Given the description of an element on the screen output the (x, y) to click on. 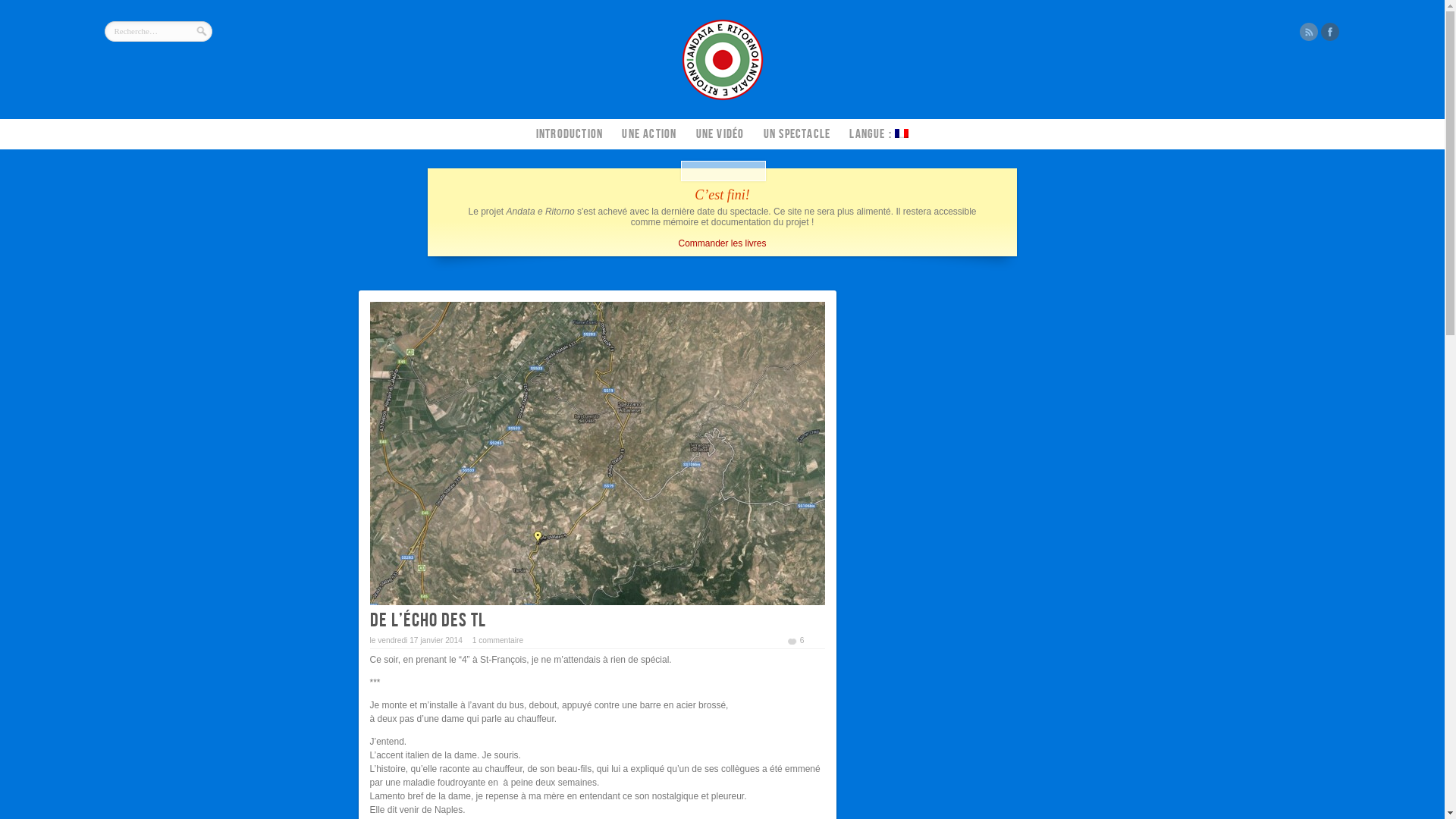
Une action Element type: text (648, 134)
andata e ritorno Element type: hover (722, 98)
Langue :  Element type: text (878, 134)
Un spectacle Element type: text (796, 134)
Introduction Element type: text (569, 134)
1 commentaire Element type: text (497, 640)
Commander les livres Element type: text (721, 243)
6 Element type: text (795, 640)
